Given the description of an element on the screen output the (x, y) to click on. 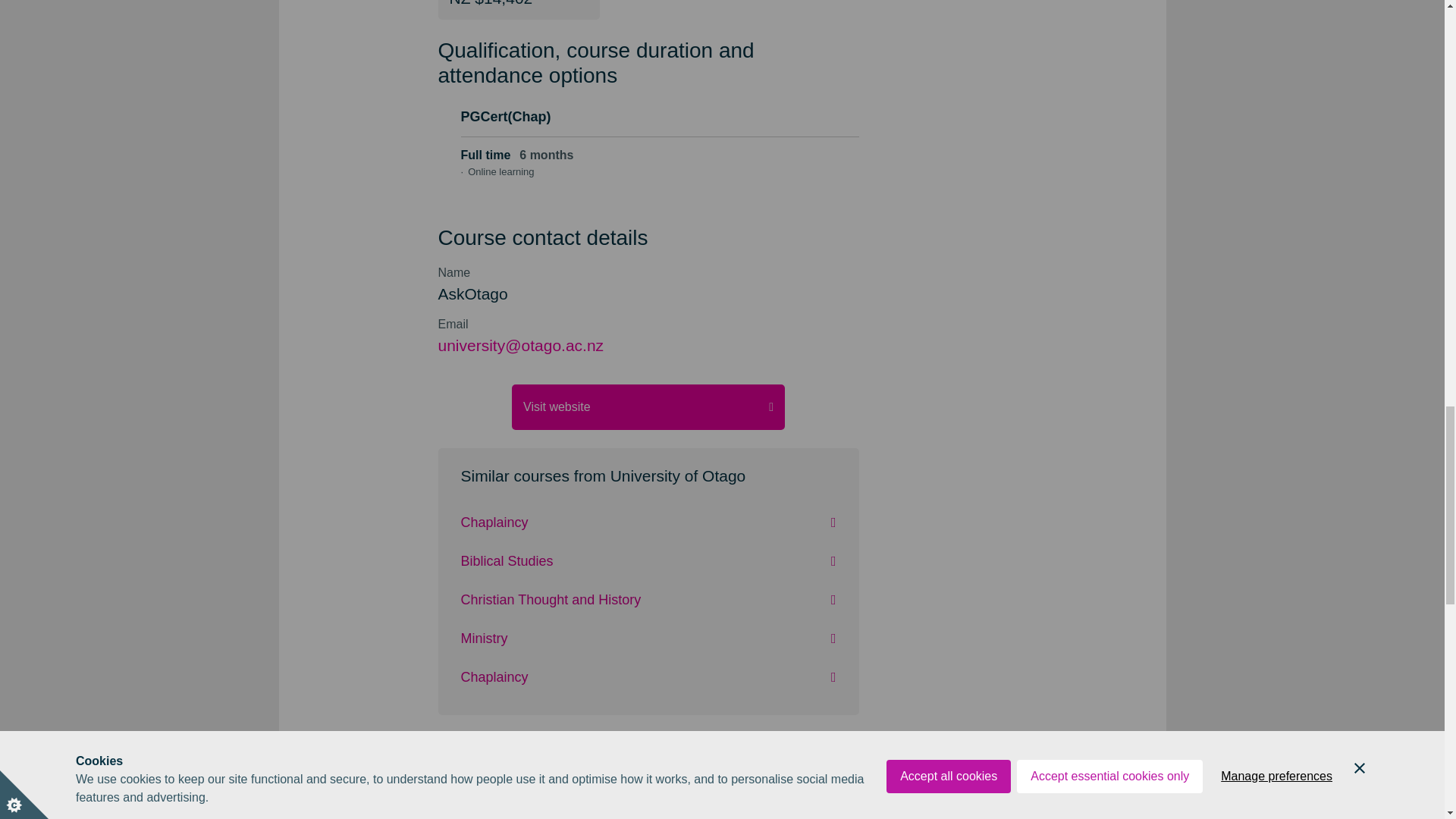
Back to top (721, 797)
